Given the description of an element on the screen output the (x, y) to click on. 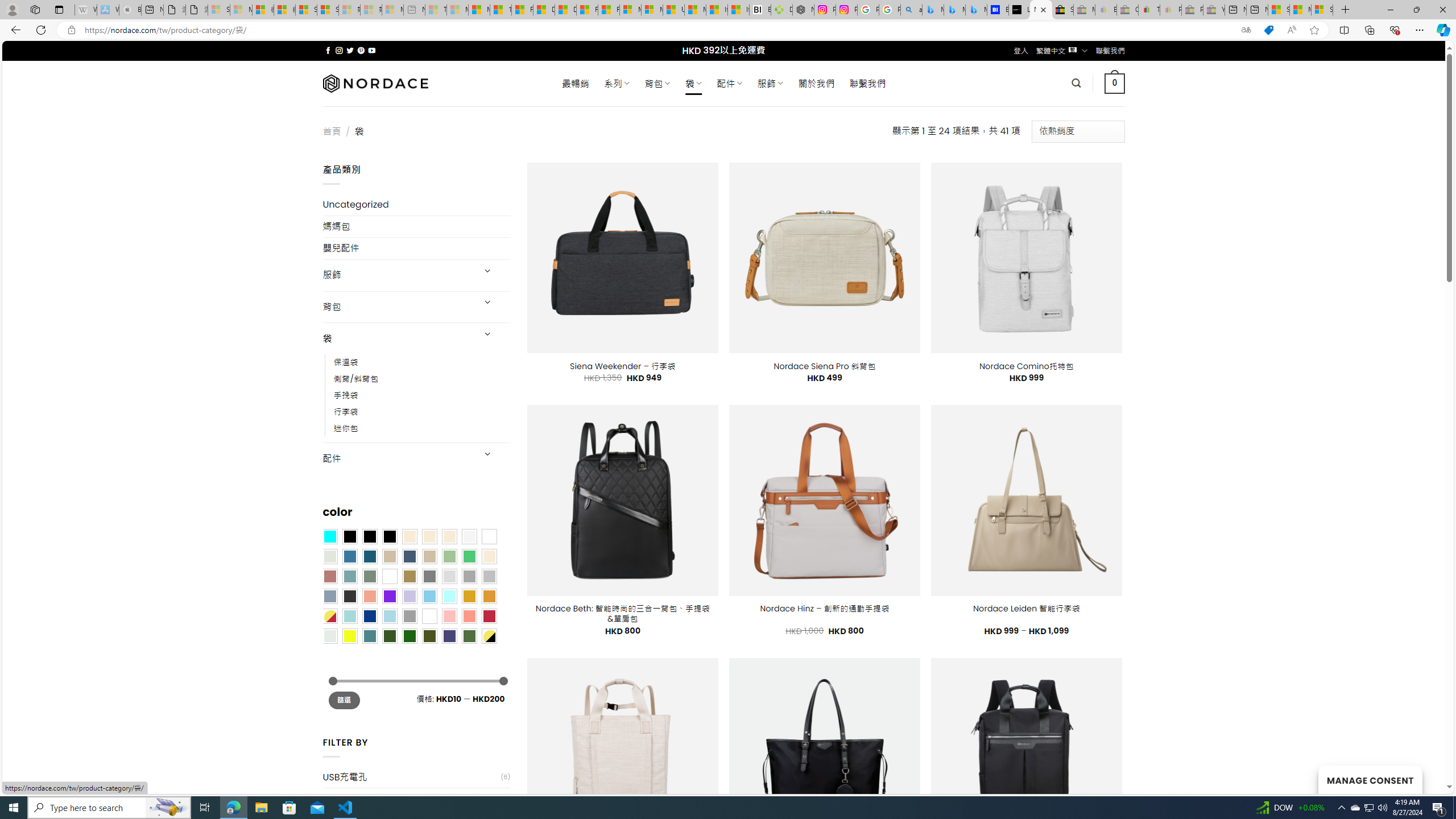
Microsoft Bing Travel - Flights from Hong Kong to Bangkok (933, 9)
Uncategorized (416, 204)
